Given the description of an element on the screen output the (x, y) to click on. 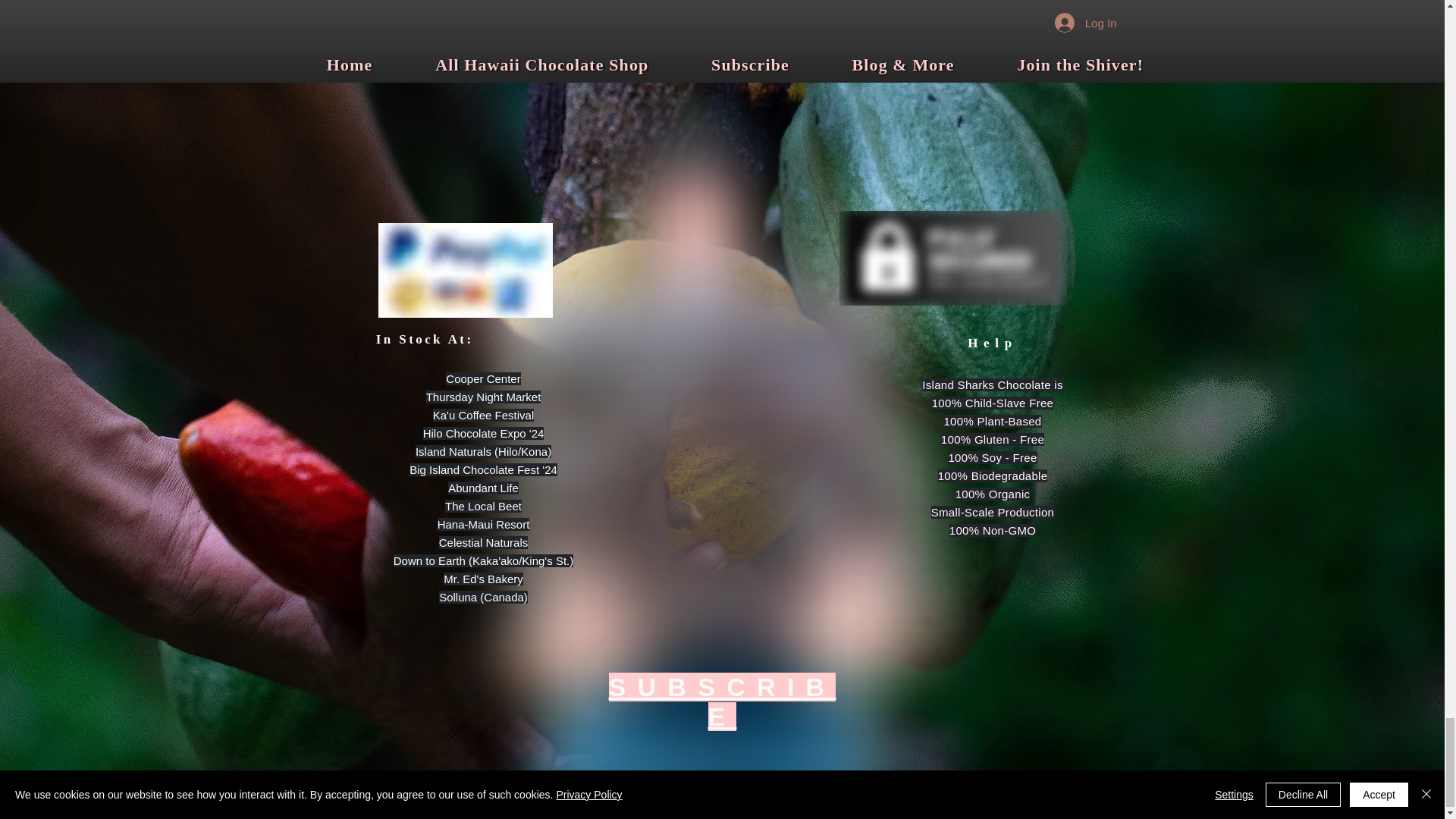
Shop (722, 23)
